Given the description of an element on the screen output the (x, y) to click on. 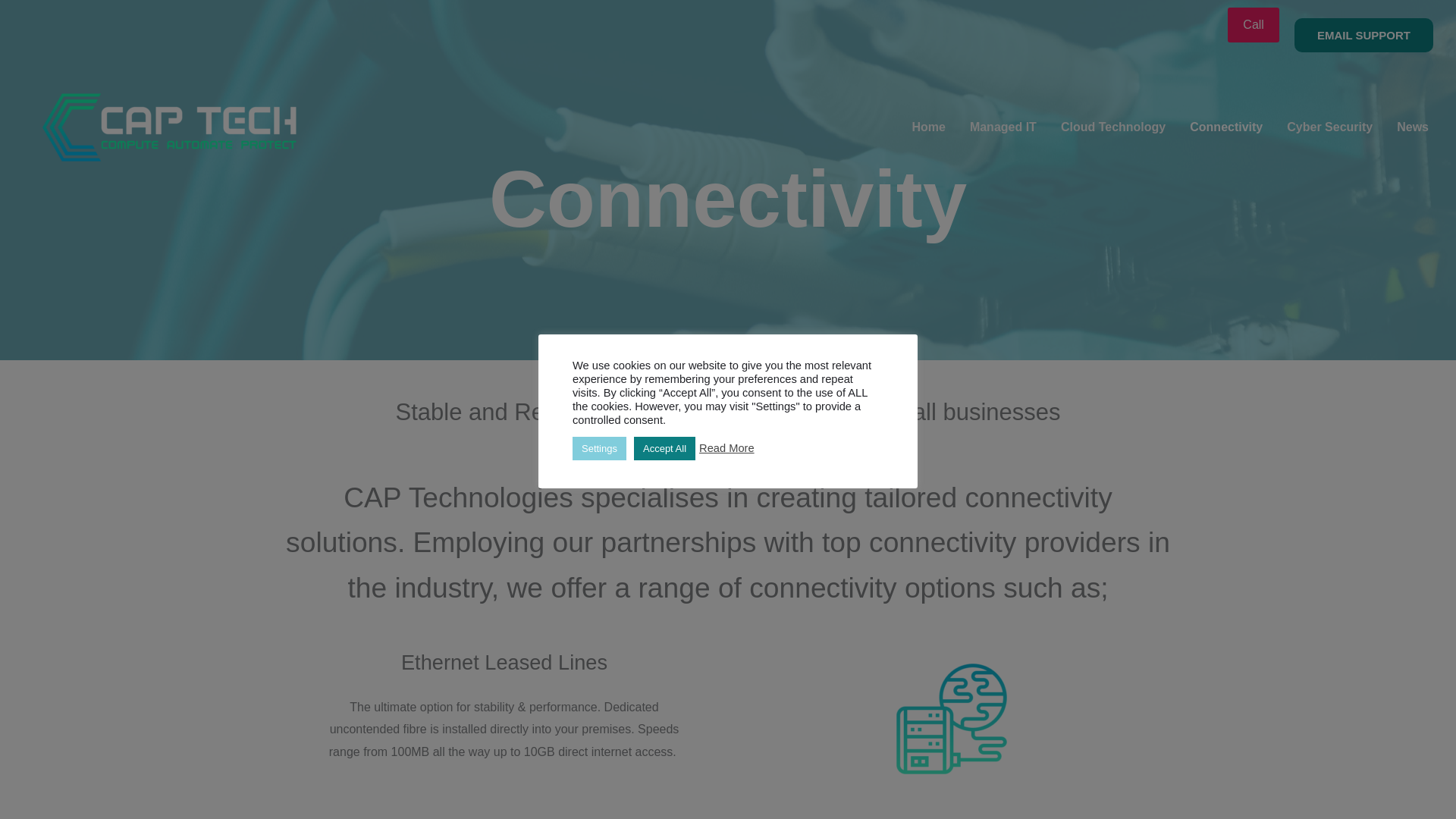
Call (1253, 24)
Settings (599, 448)
Managed IT (1003, 126)
Connectivity (1226, 126)
Home (927, 126)
Cyber Security (1329, 126)
Cloud Technology (1112, 126)
News (1412, 126)
EMAIL SUPPORT (1363, 35)
